Given the description of an element on the screen output the (x, y) to click on. 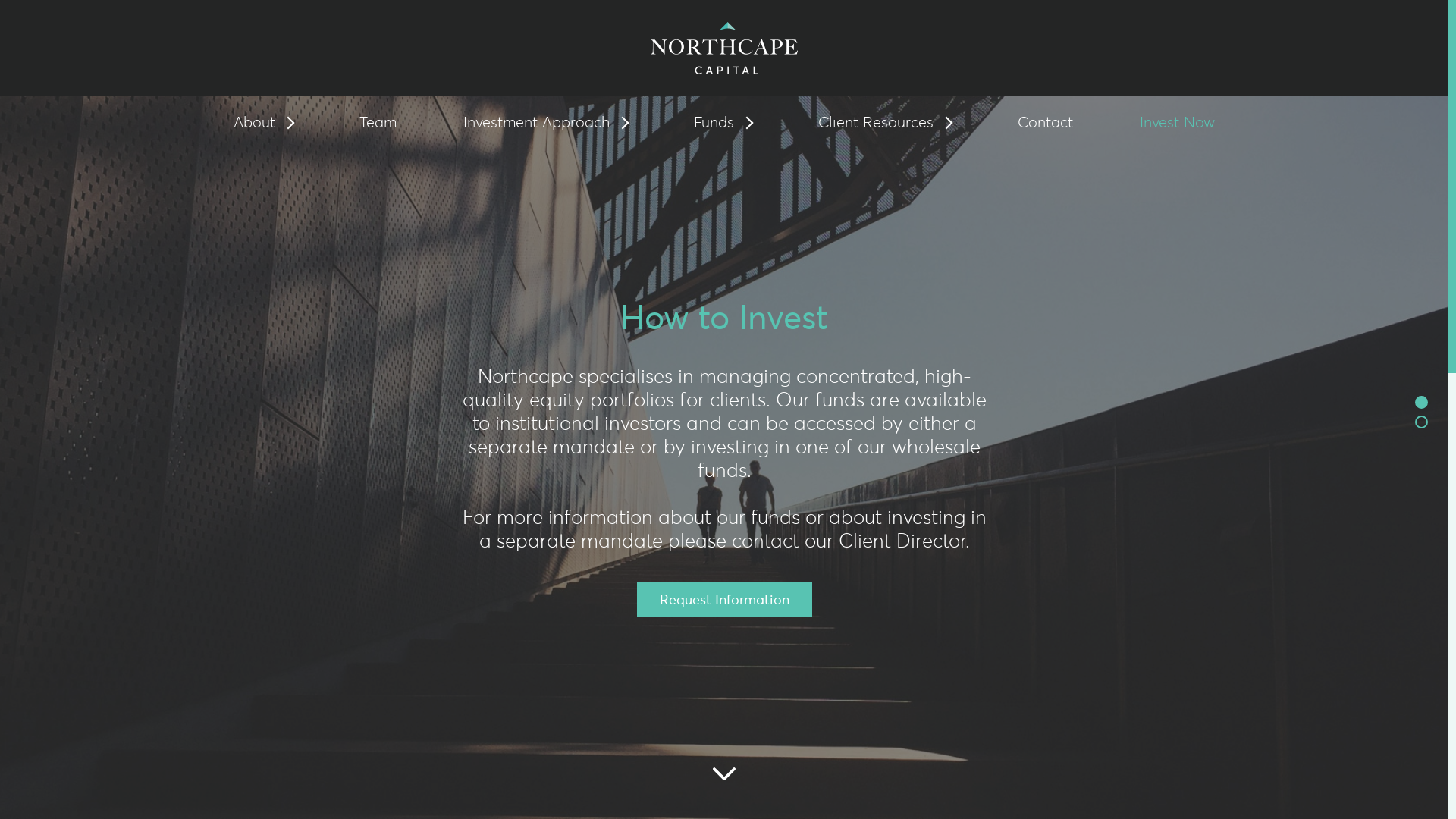
Client Resources Element type: text (884, 122)
Team Element type: text (377, 122)
Investment Approach Element type: text (545, 122)
Contact Element type: text (1045, 122)
how-to-invest Element type: text (1414, 395)
About Element type: text (262, 122)
Funds Element type: text (722, 122)
invest-steps Element type: text (1414, 415)
Invest Now Element type: text (1176, 122)
Request Information Element type: text (724, 599)
